Given the description of an element on the screen output the (x, y) to click on. 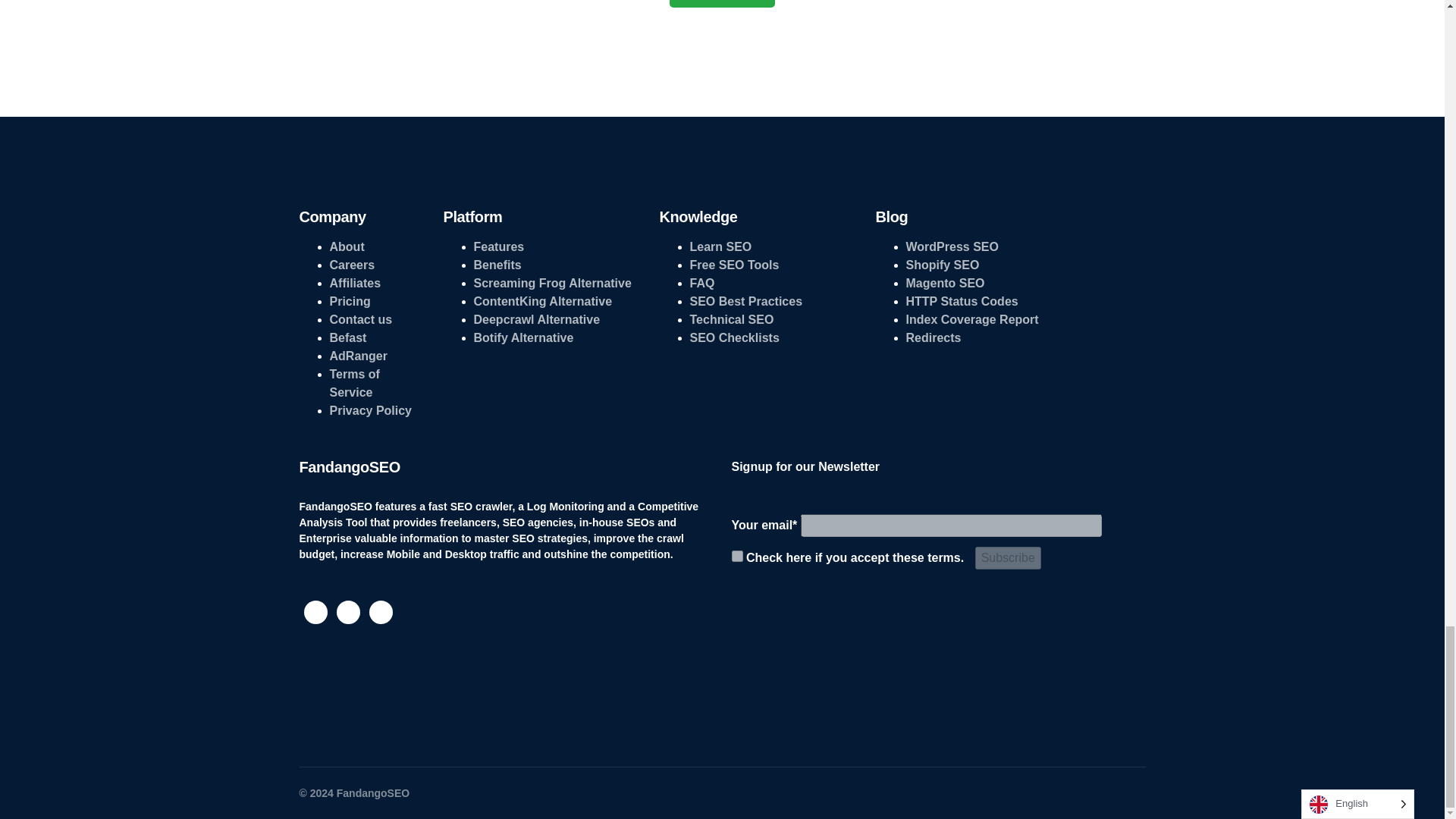
Get Started (721, 3)
1 (736, 555)
Befast (347, 337)
Features (498, 246)
Contact us (360, 318)
Privacy Policy (370, 410)
AdRanger (358, 355)
Careers (351, 264)
Affiliates (354, 282)
Subscribe (1008, 558)
Pricing (349, 300)
About (346, 246)
Terms of Service (353, 382)
